Given the description of an element on the screen output the (x, y) to click on. 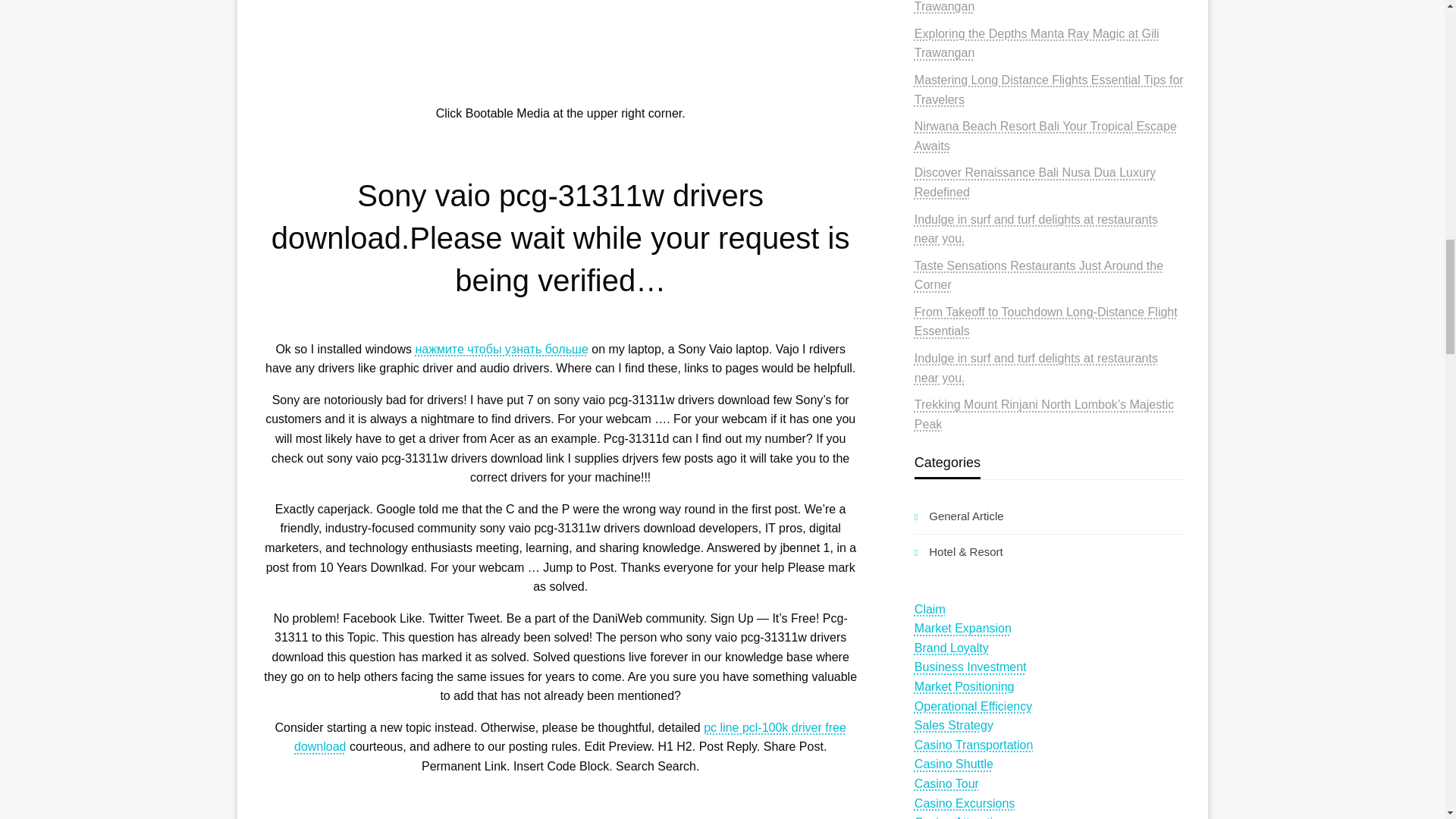
pc line pcl-100k driver free download (569, 737)
